Given the description of an element on the screen output the (x, y) to click on. 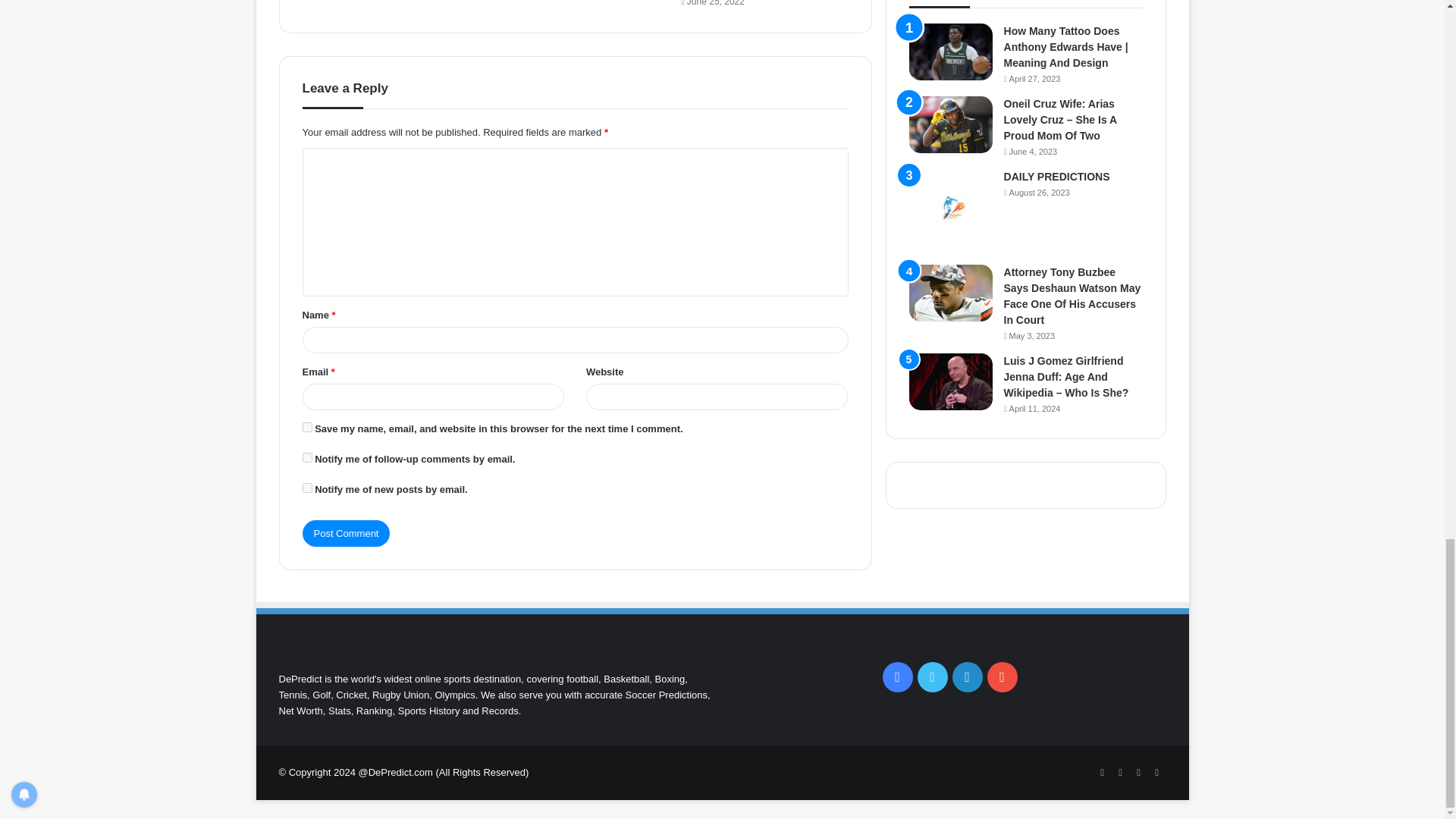
yes (306, 427)
subscribe (306, 488)
Post Comment (345, 533)
subscribe (306, 457)
